Given the description of an element on the screen output the (x, y) to click on. 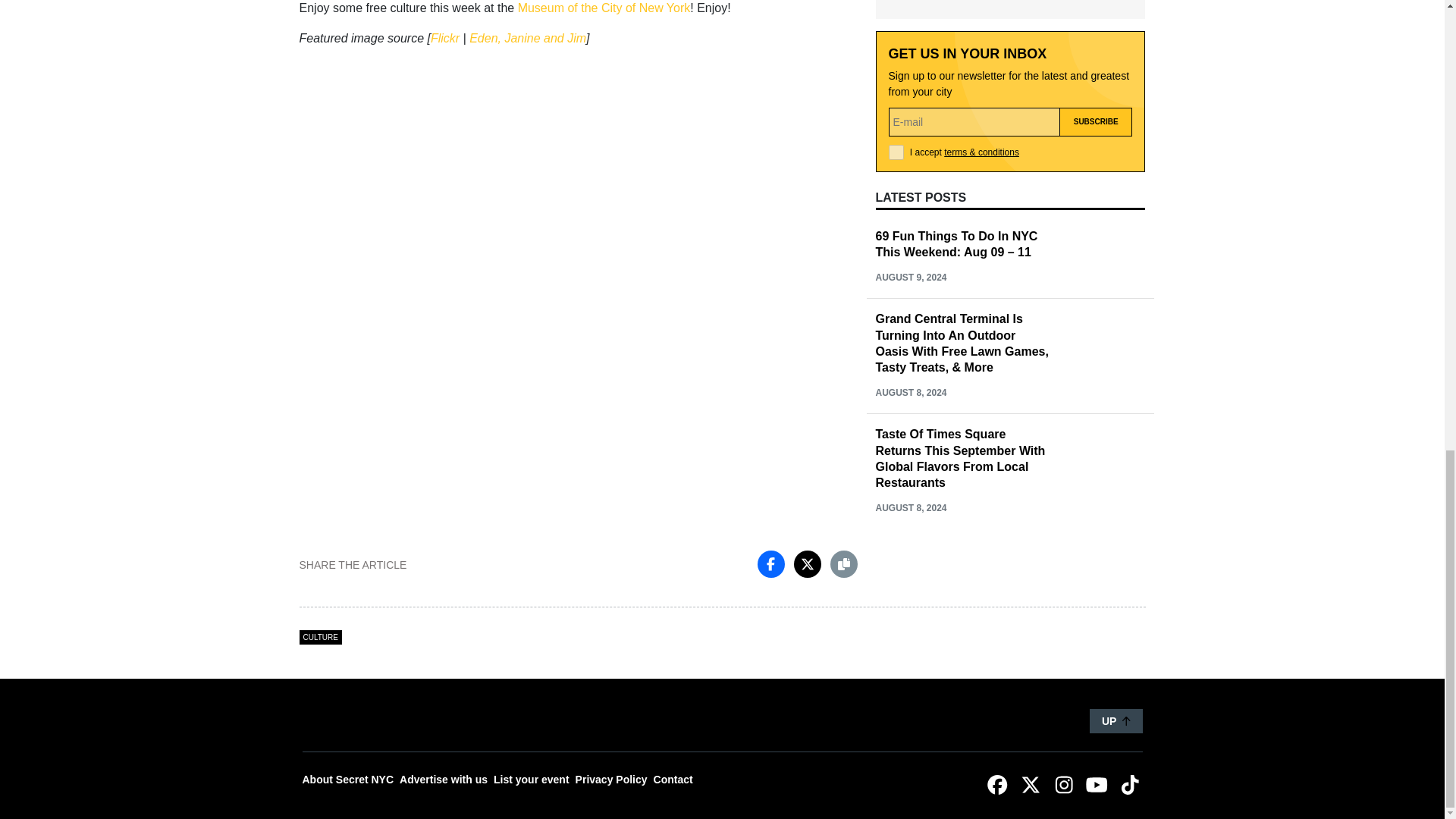
Subscribe (1095, 121)
Go to Eden, Janine and Jim's photostream (527, 38)
Flickr (445, 38)
Eden, Janine and Jim (527, 38)
Subscribe (1095, 121)
Museum of the City of New York (604, 7)
1 (896, 151)
